Given the description of an element on the screen output the (x, y) to click on. 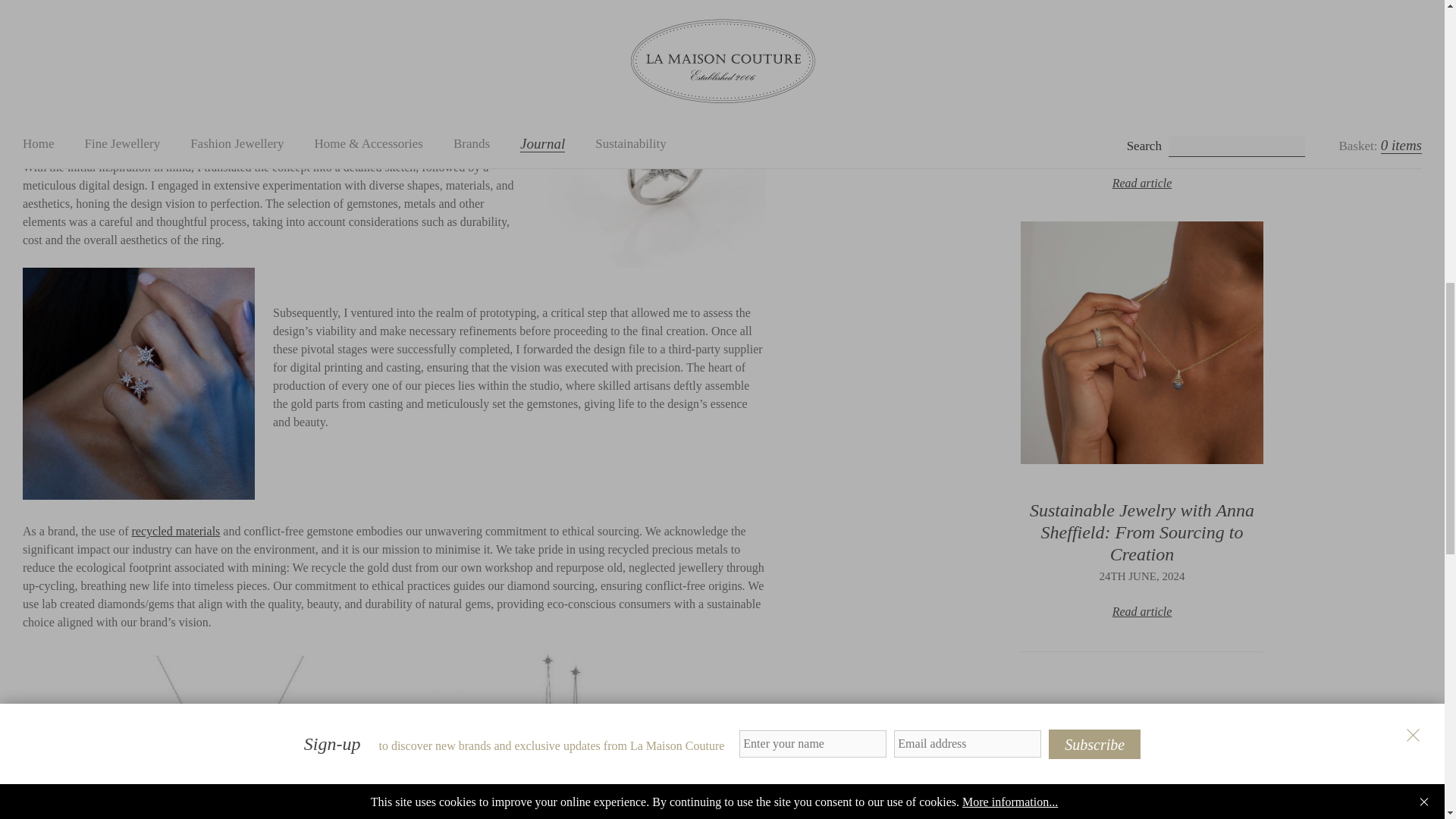
Read article (1142, 611)
Read article (1142, 182)
recycled materials (176, 530)
Astral Ring (142, 21)
